Given the description of an element on the screen output the (x, y) to click on. 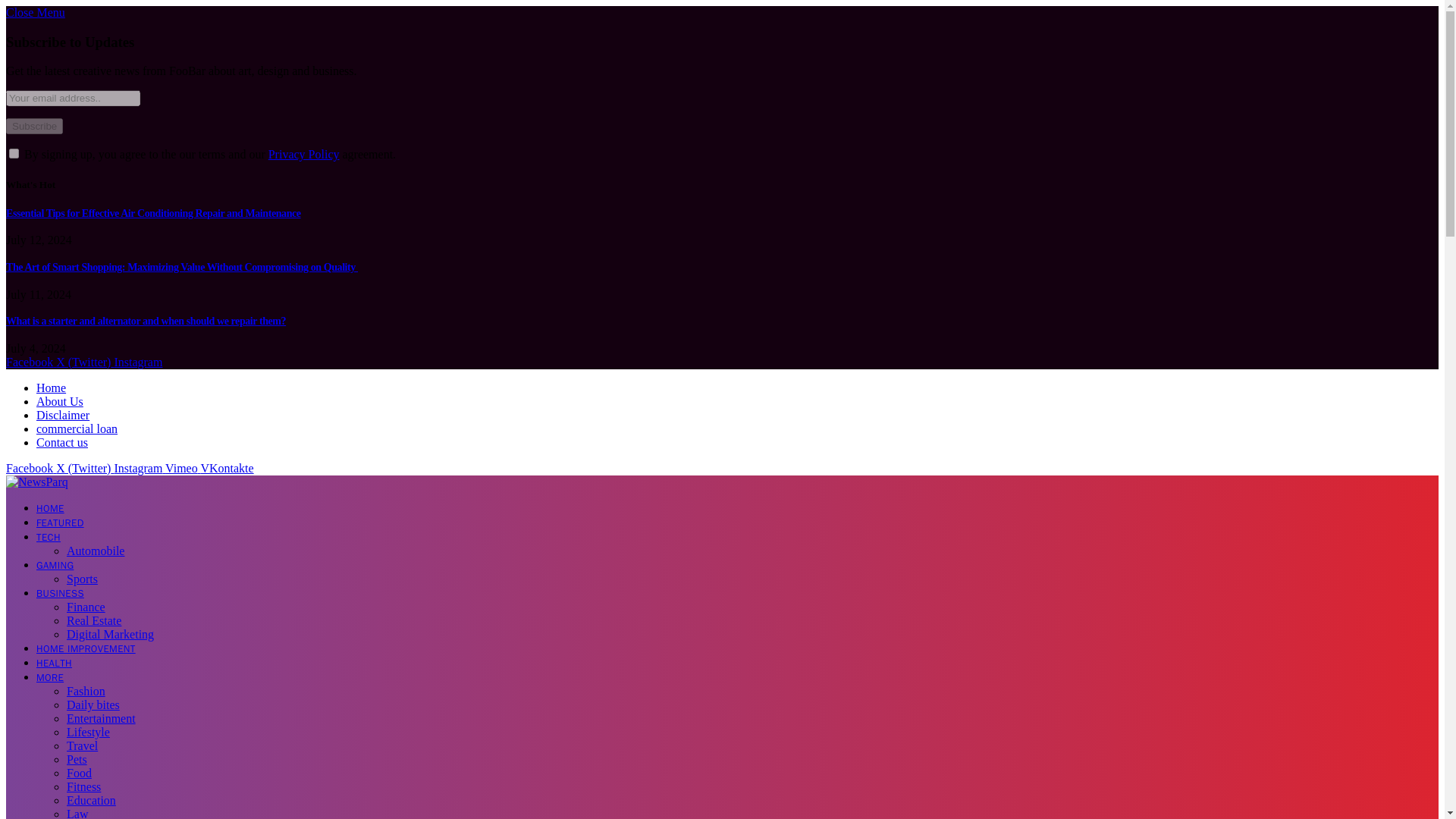
BUSINESS (60, 593)
NewsParq (36, 481)
VKontakte (226, 468)
commercial loan (76, 428)
GAMING (55, 564)
Finance (85, 606)
Subscribe (33, 125)
Home (50, 387)
Travel (81, 745)
Instagram (139, 468)
Fashion (85, 690)
Pets (76, 758)
HEALTH (53, 662)
FEATURED (60, 522)
HOME (50, 508)
